Given the description of an element on the screen output the (x, y) to click on. 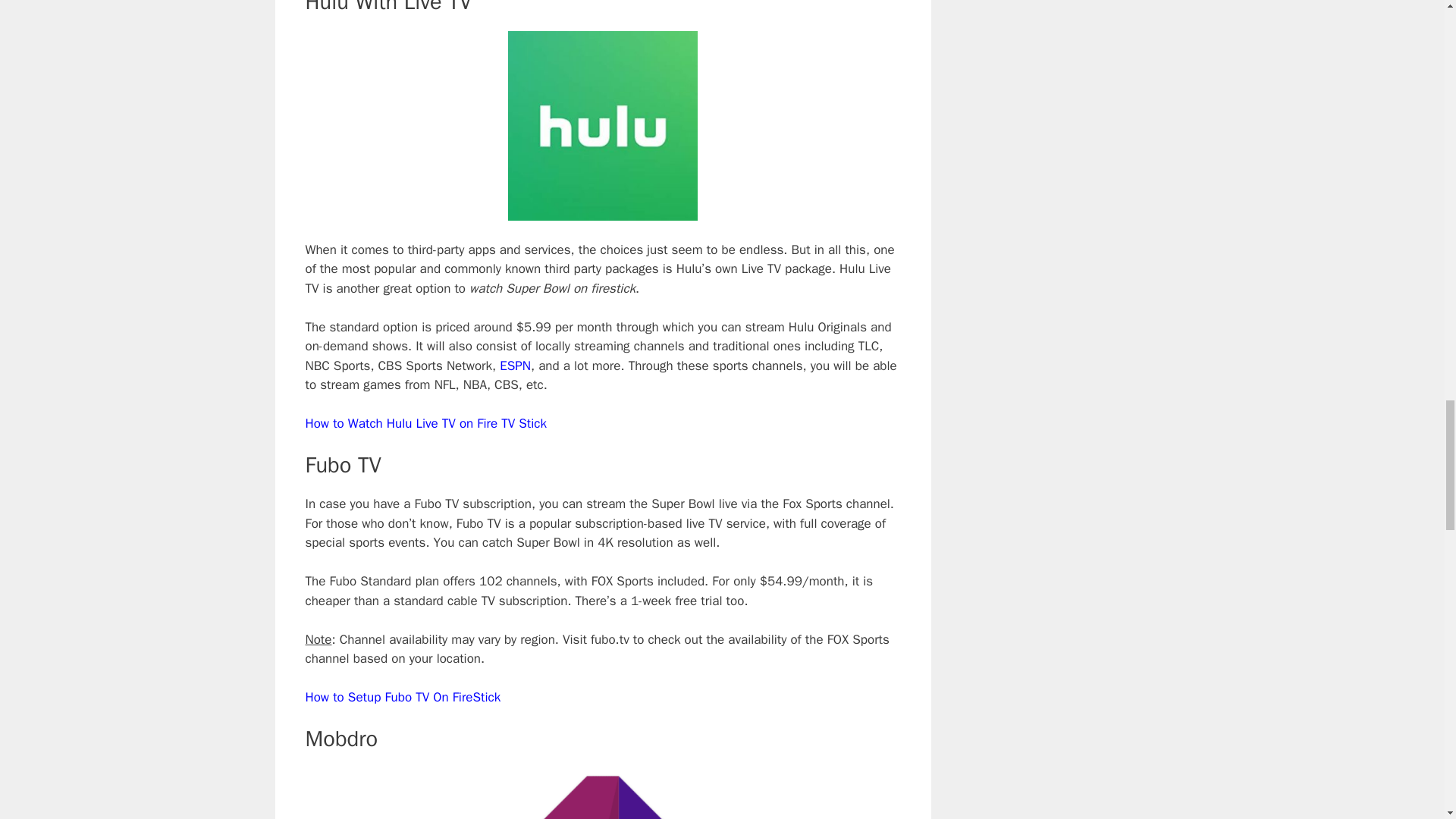
How to Watch Hulu Live TV on Fire TV Stick (425, 423)
How to Setup Fubo TV On FireStick (402, 697)
ESPN (515, 365)
